Given the description of an element on the screen output the (x, y) to click on. 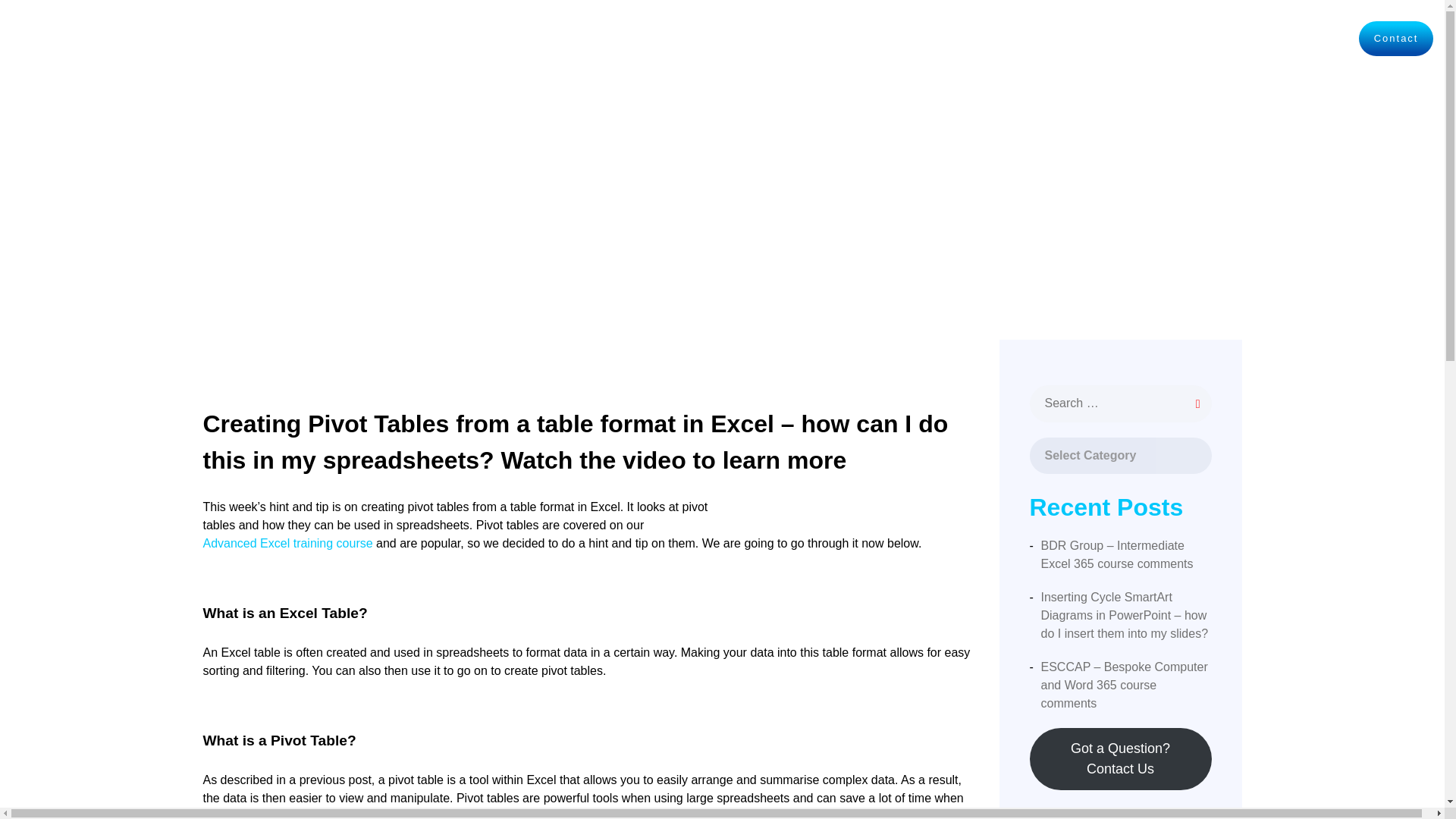
Hints and Tips (1139, 37)
Search (91, 19)
News (1324, 39)
Onsite Courses (909, 37)
Home (820, 39)
Virtual Training (1025, 37)
Contact (1395, 38)
Advanced Excel training course (287, 543)
Got a Question? Contact Us (1120, 759)
Testimonials (1244, 37)
